Given the description of an element on the screen output the (x, y) to click on. 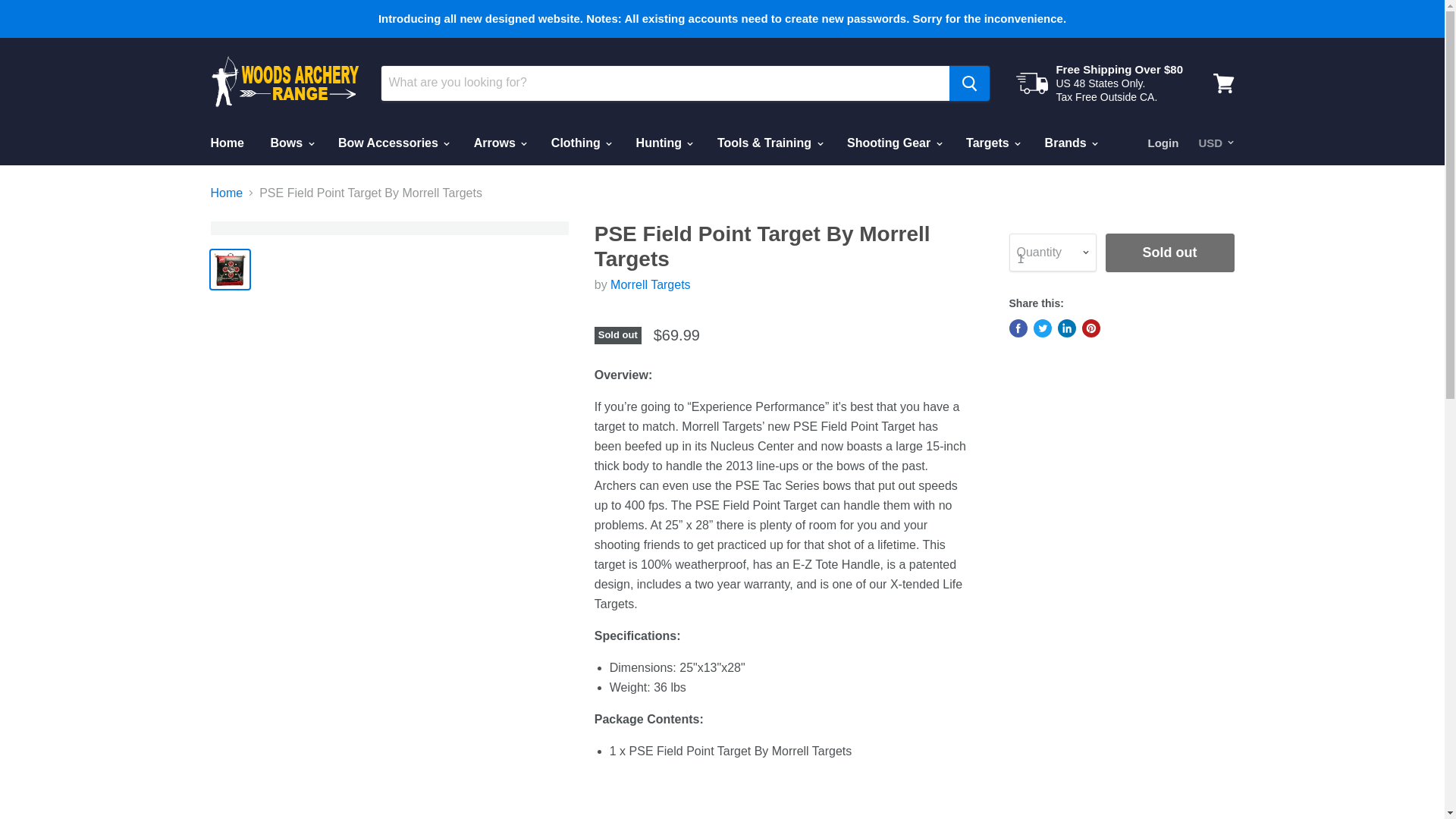
Bows (291, 142)
Morrell Targets (650, 284)
Home (226, 142)
View cart (1223, 82)
